Given the description of an element on the screen output the (x, y) to click on. 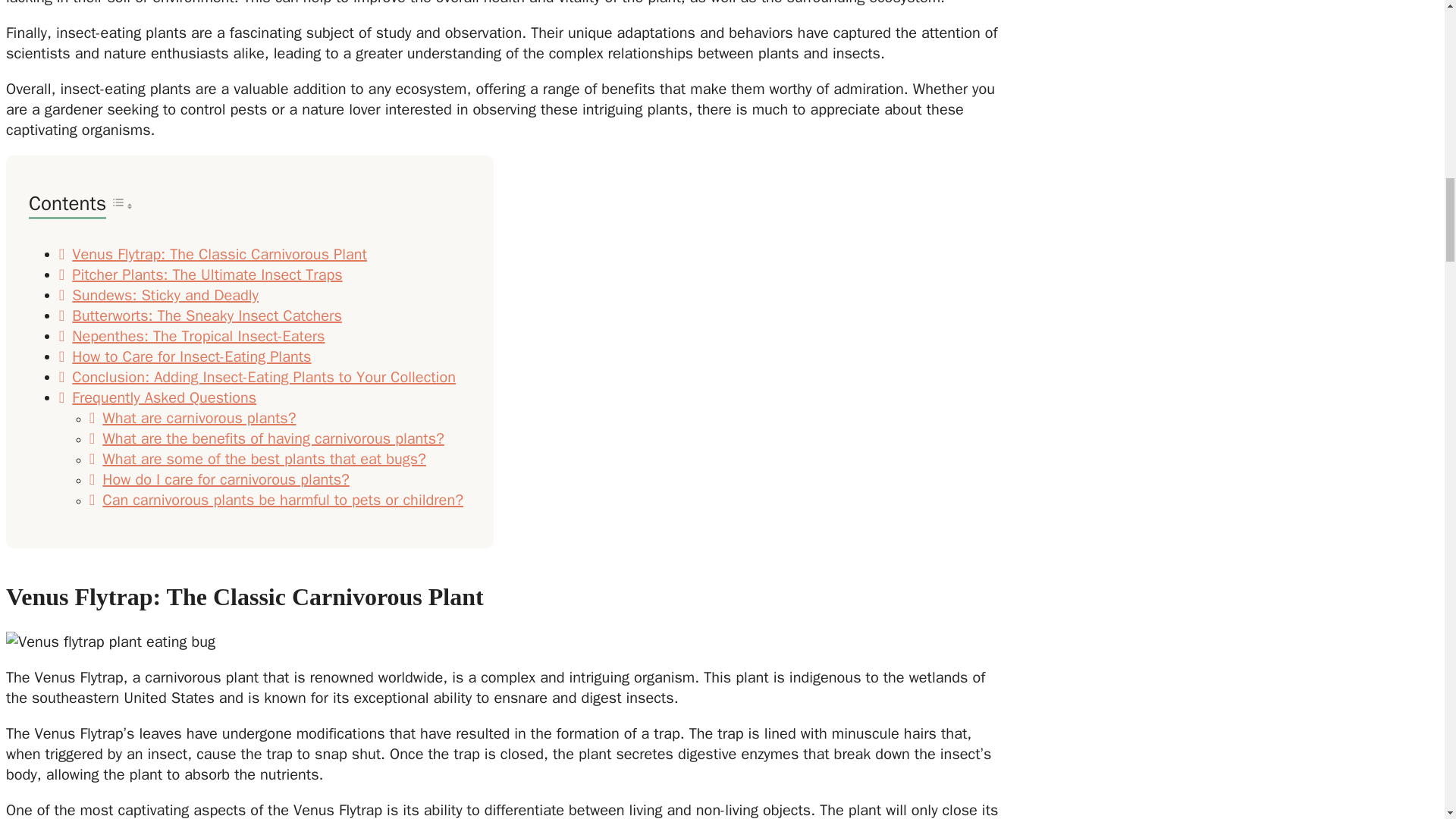
Can carnivorous plants be harmful to pets or children? (282, 499)
Butterworts: The Sneaky Insect Catchers (206, 315)
What are carnivorous plants? (198, 417)
Sundews: Sticky and Deadly (165, 294)
Conclusion: Adding Insect-Eating Plants to Your Collection (263, 376)
What are some of the best plants that eat bugs? (263, 458)
How to Care for Insect-Eating Plants (191, 356)
Frequently Asked Questions (163, 397)
What are the benefits of having carnivorous plants? (272, 438)
How do I care for carnivorous plants? (225, 479)
Venus Flytrap: The Classic Carnivorous Plant (218, 253)
Pitcher Plants: The Ultimate Insect Traps (206, 274)
Nepenthes: The Tropical Insect-Eaters (197, 335)
